Given the description of an element on the screen output the (x, y) to click on. 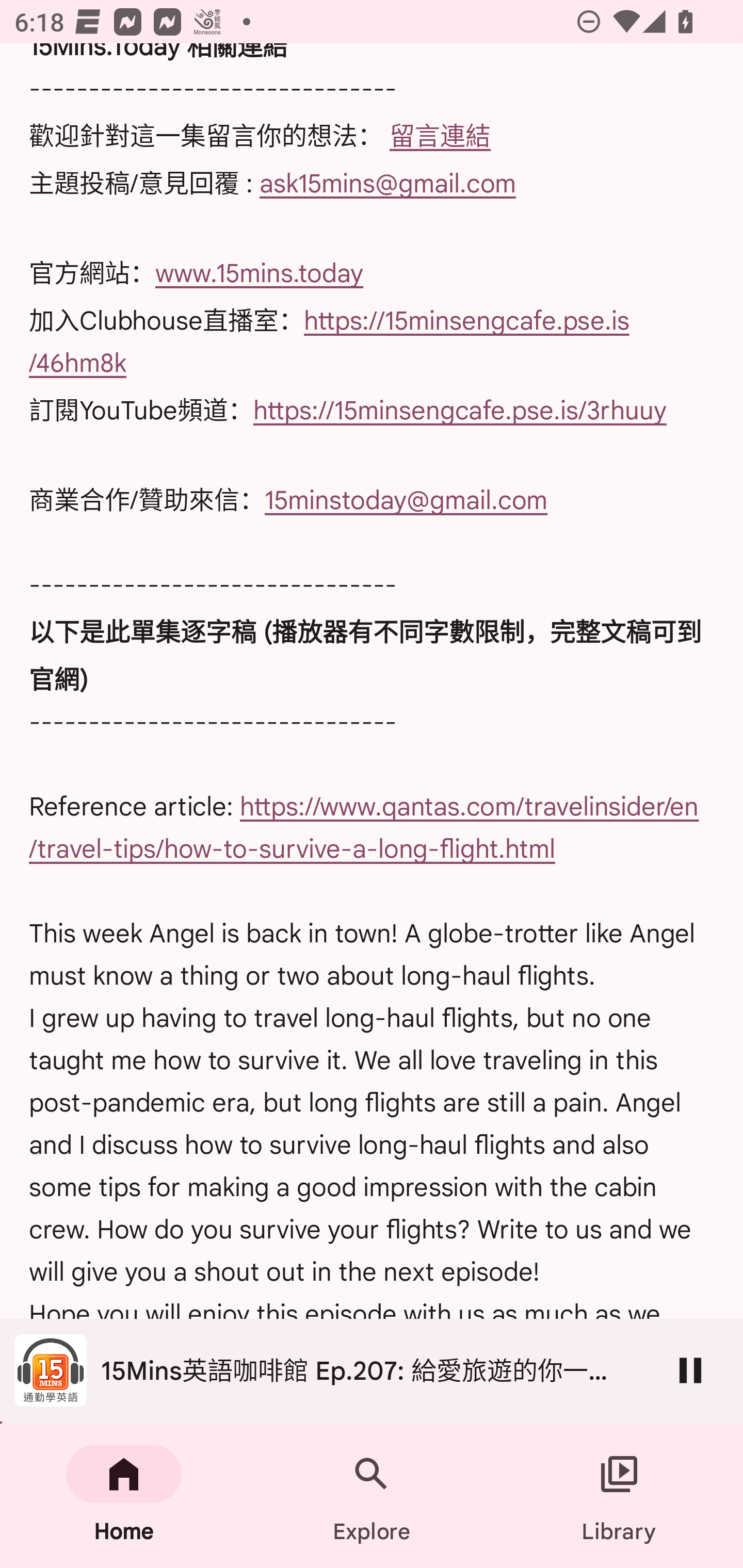
Pause (690, 1370)
Explore (371, 1495)
Library (619, 1495)
